Given the description of an element on the screen output the (x, y) to click on. 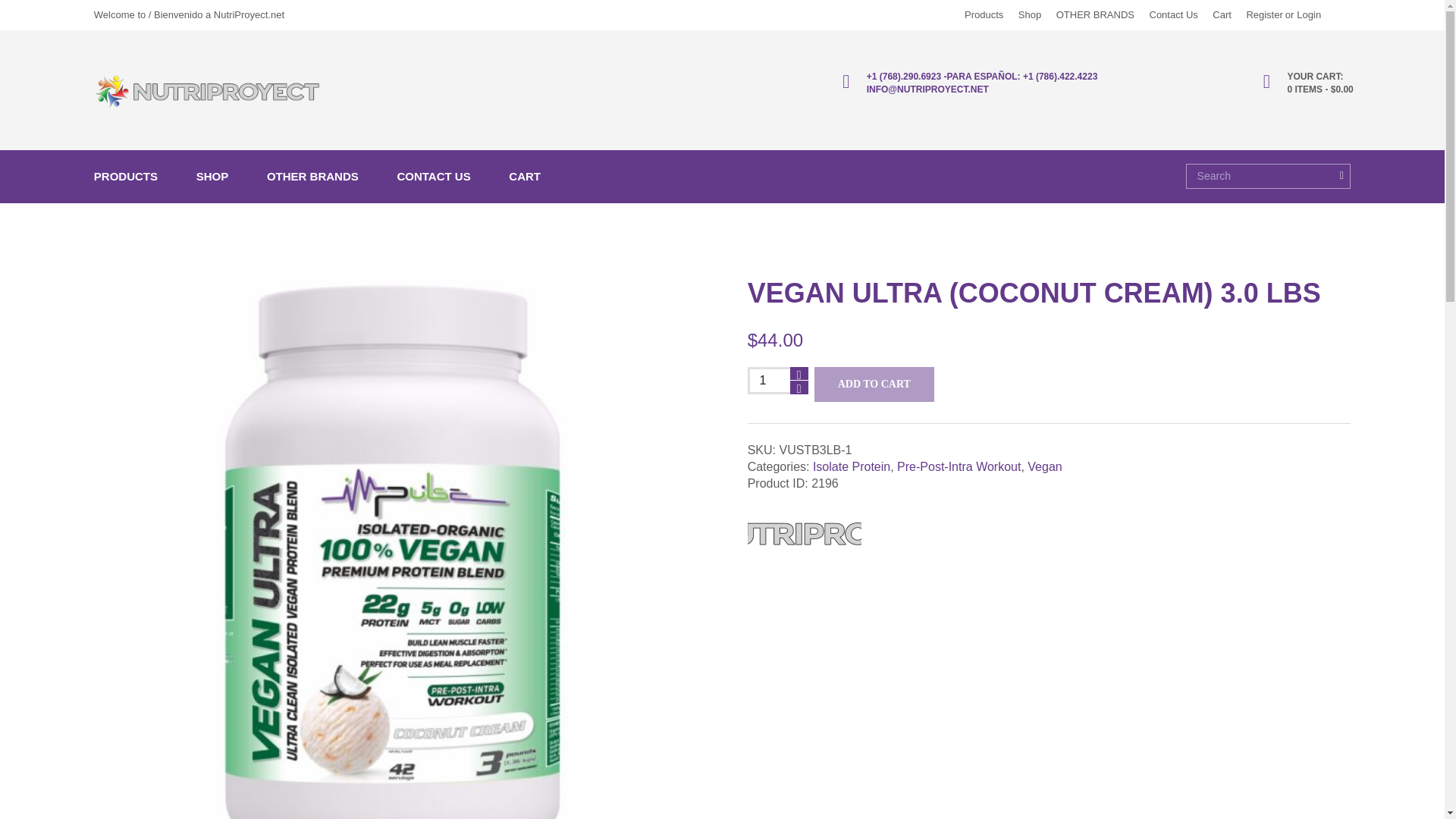
Products (983, 14)
OTHER BRANDS (1095, 14)
CART (524, 176)
PRODUCTS (135, 176)
Impulse (804, 533)
1 (778, 380)
SHOP (211, 176)
Contact Us (1174, 14)
CONTACT US (433, 176)
Register (1264, 14)
OTHER BRANDS (312, 176)
